Given the description of an element on the screen output the (x, y) to click on. 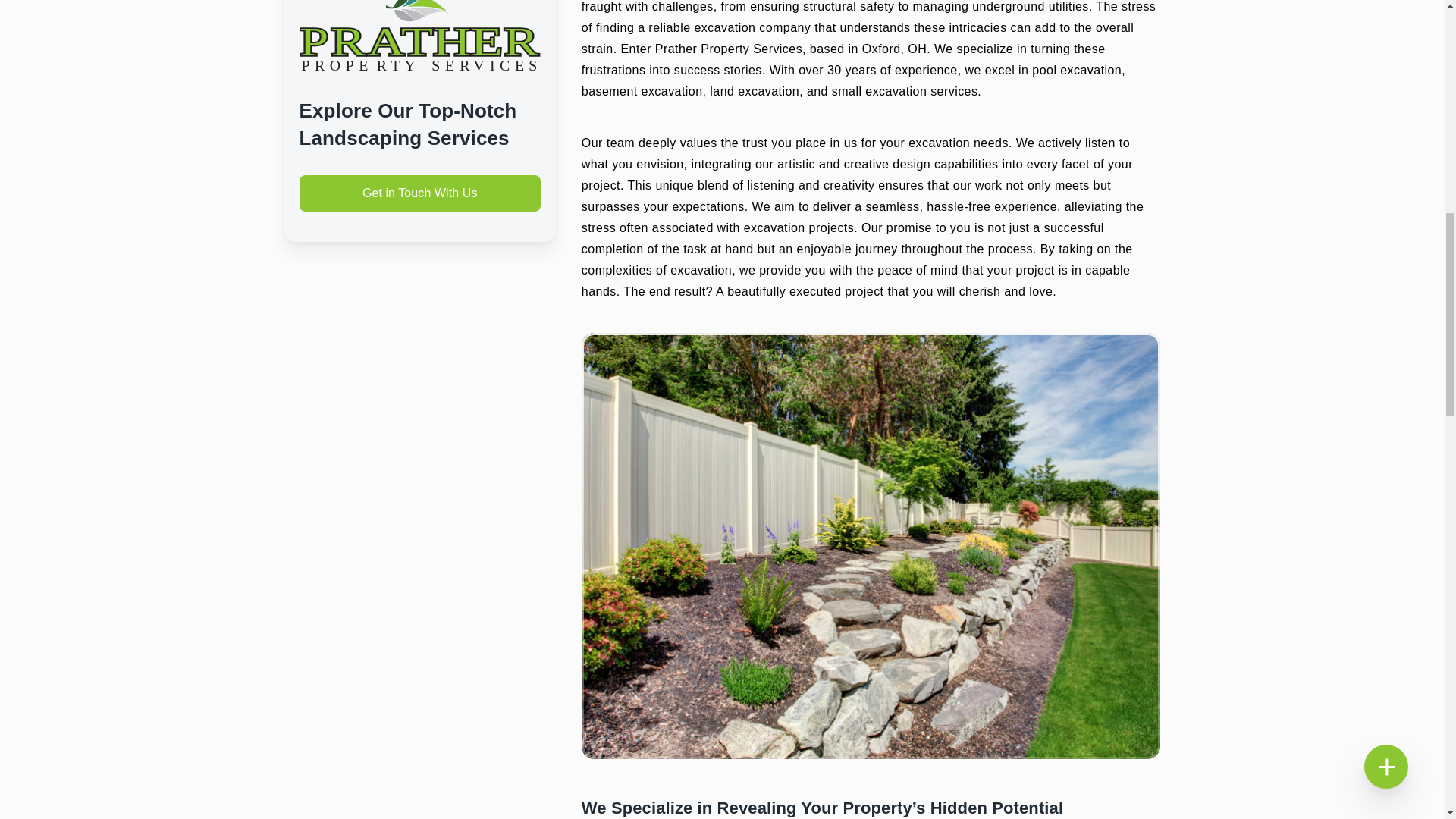
Get in Touch With Us (419, 193)
